Given the description of an element on the screen output the (x, y) to click on. 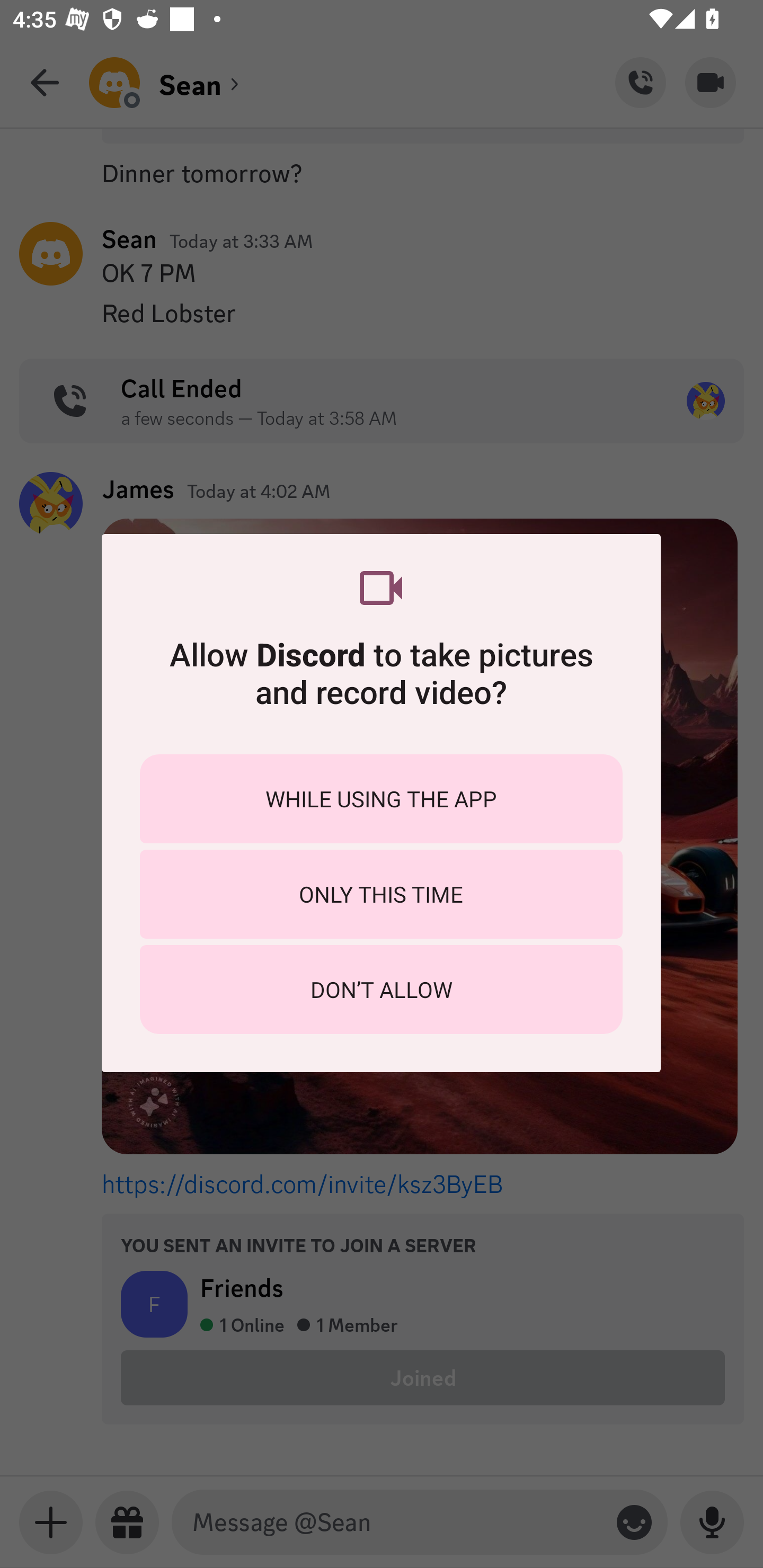
WHILE USING THE APP (380, 798)
ONLY THIS TIME (380, 894)
DON’T ALLOW (380, 989)
